Given the description of an element on the screen output the (x, y) to click on. 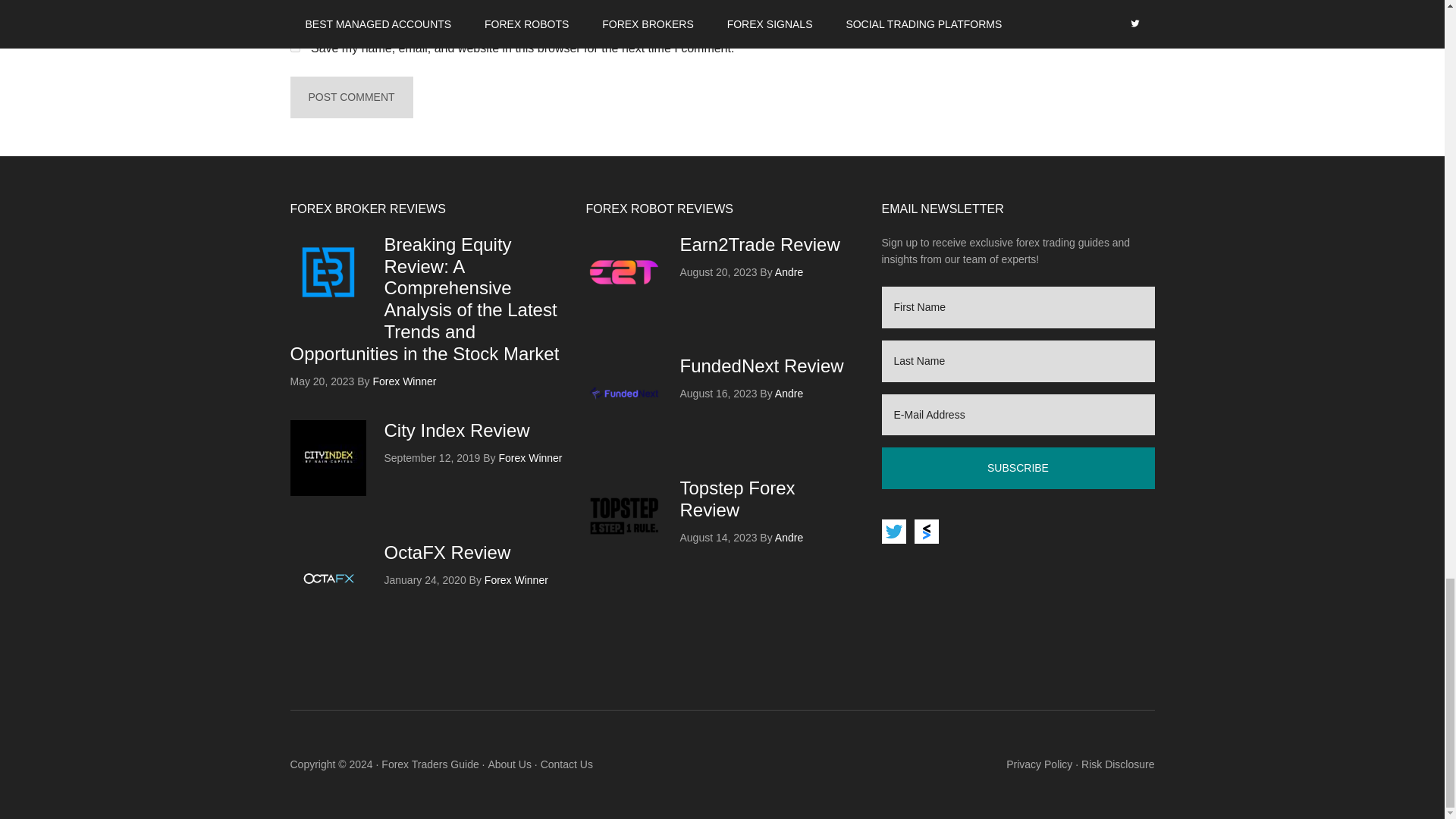
yes (294, 47)
Post Comment (350, 96)
Subscribe (1017, 467)
